Given the description of an element on the screen output the (x, y) to click on. 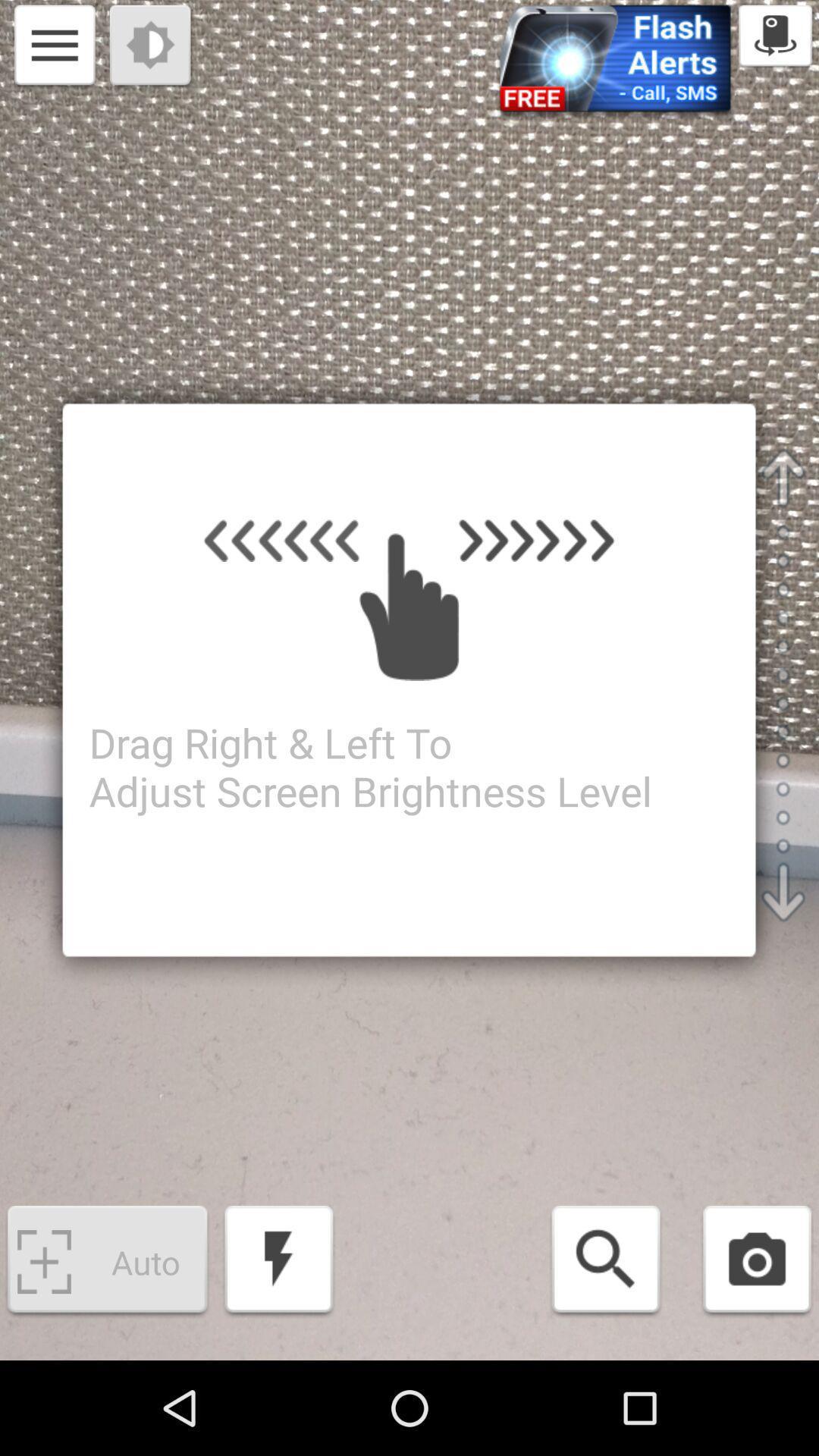
go to options (54, 47)
